Given the description of an element on the screen output the (x, y) to click on. 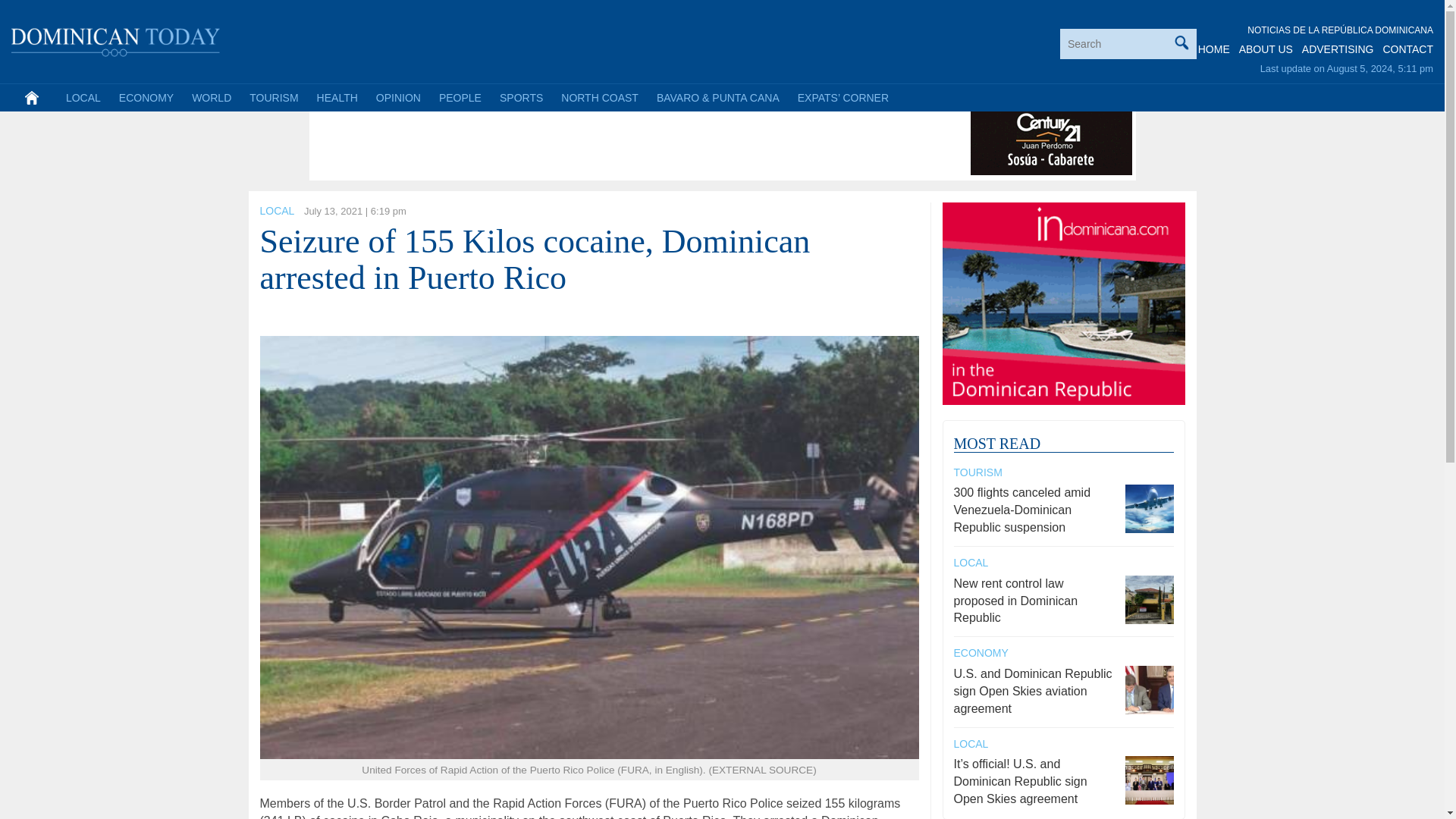
TOURISM (273, 97)
ADVERTISING (1337, 49)
LOCAL (83, 97)
ECONOMY (146, 97)
OPINION (397, 97)
HOME (1214, 49)
SPORTS (520, 97)
ABOUT US (1265, 49)
TOURISM (978, 471)
Dominican Today News - Santo Domingo and Dominican Republic (116, 38)
CONTACT (1406, 49)
LOCAL (276, 210)
Advertisement (589, 141)
NORTH COAST (599, 97)
